Given the description of an element on the screen output the (x, y) to click on. 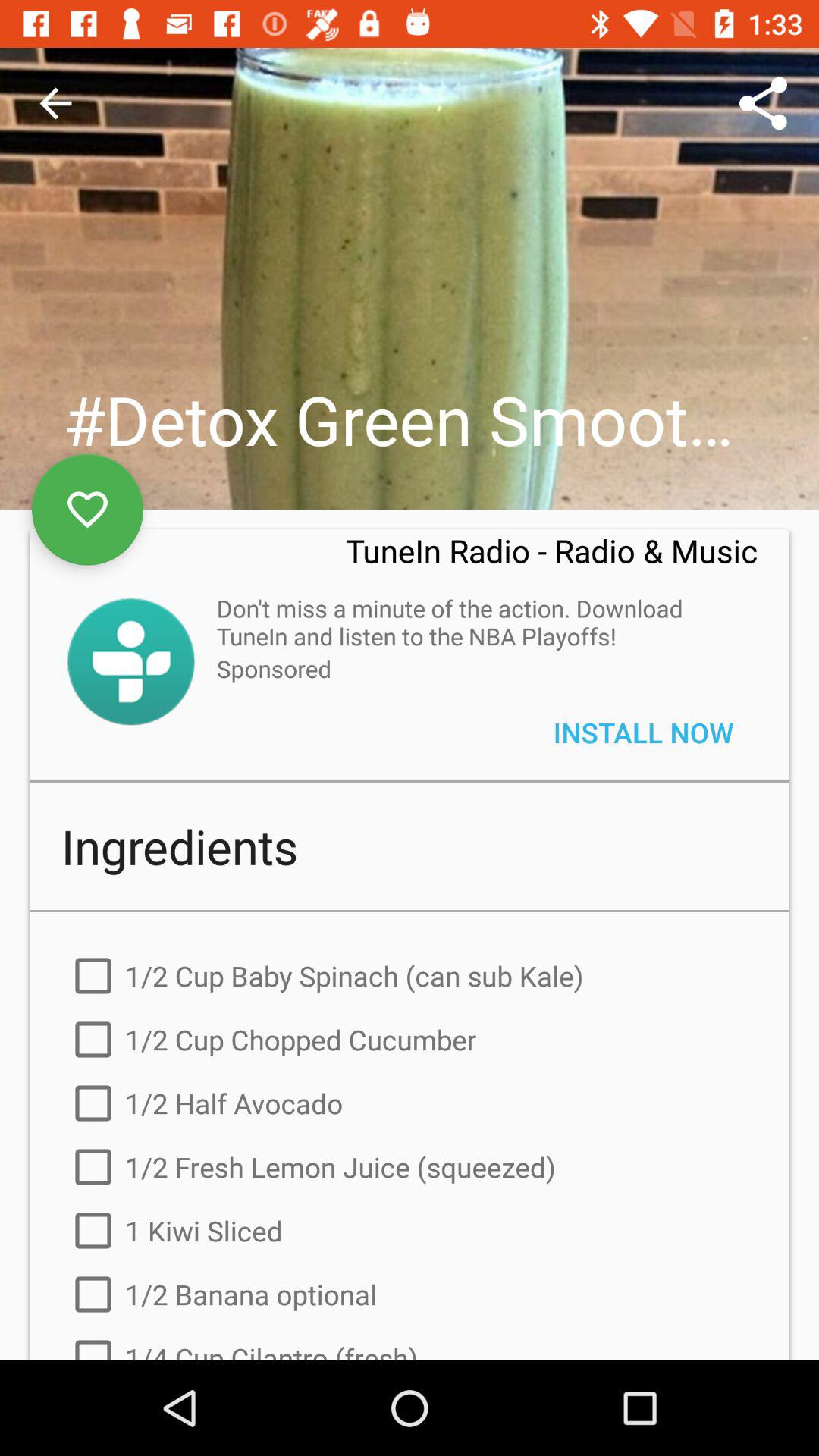
tap the icon to the left of the tunein radio radio icon (87, 509)
